Given the description of an element on the screen output the (x, y) to click on. 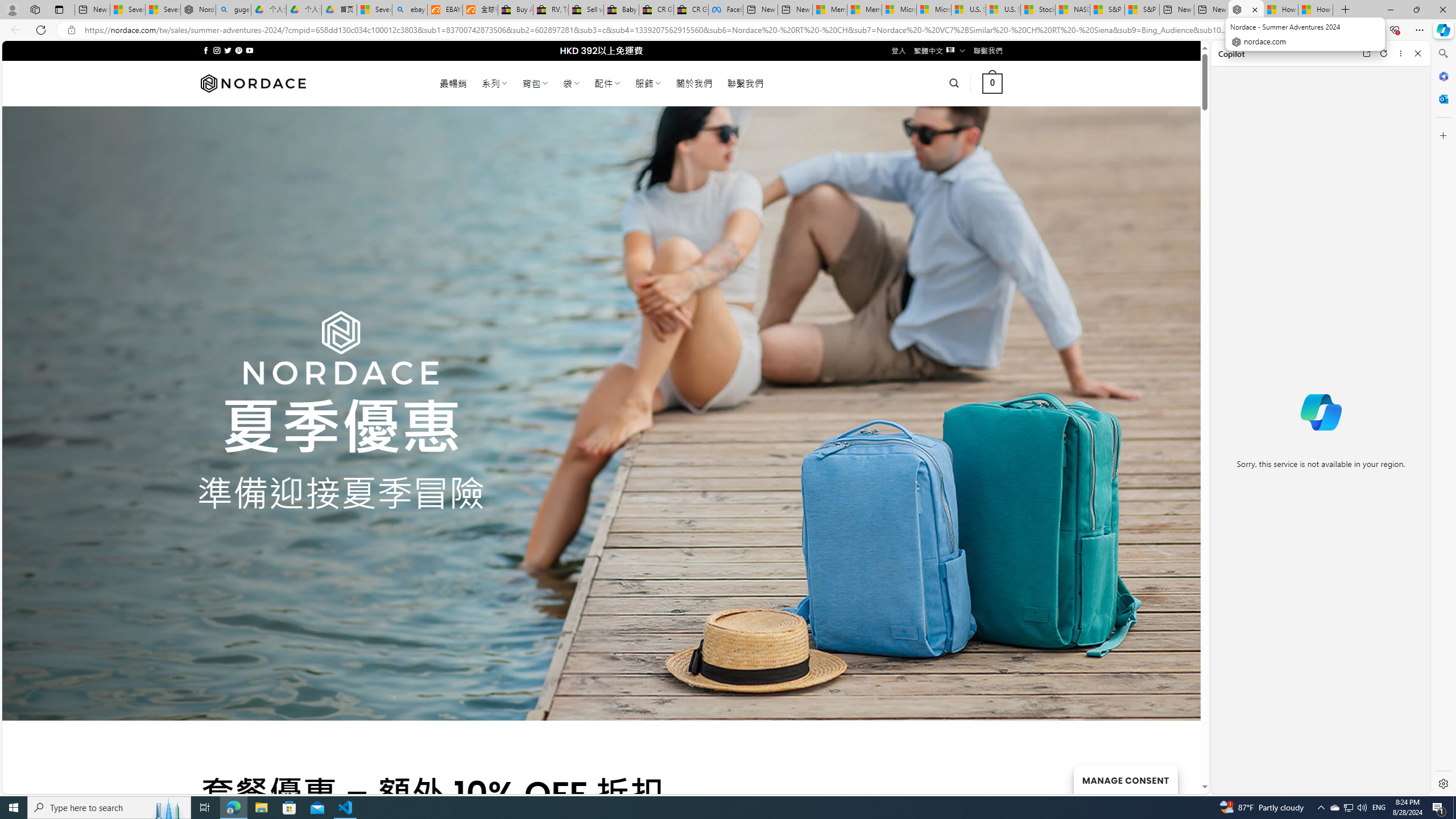
How to Use a Monitor With Your Closed Laptop (1315, 9)
Show translate options (1245, 29)
guge yunpan - Search (233, 9)
